Given the description of an element on the screen output the (x, y) to click on. 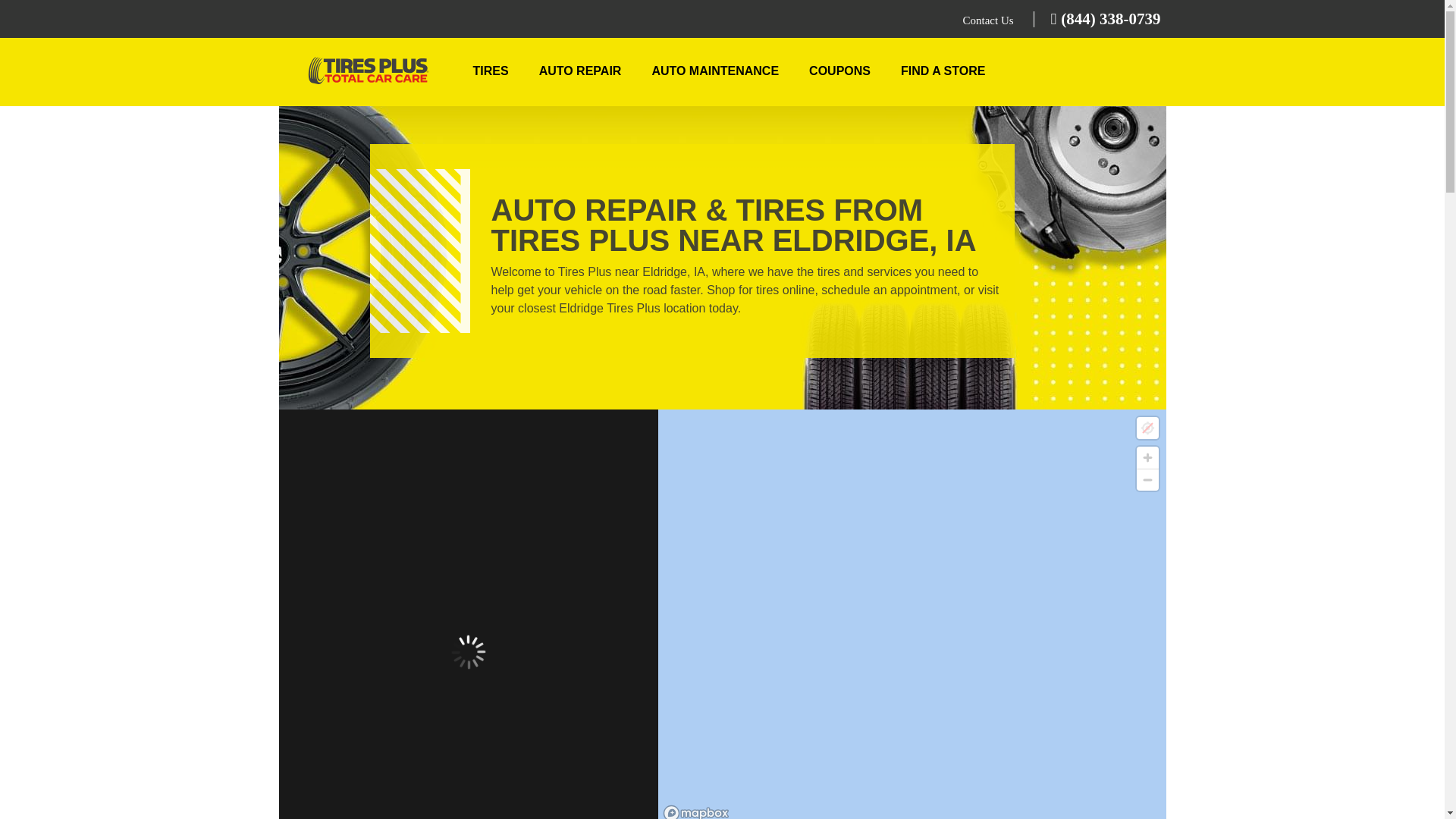
Zoom in (1146, 457)
Tires Plus (368, 73)
AUTO REPAIR (580, 71)
Zoom out (1146, 479)
COUPONS (839, 71)
TIRES (491, 71)
Contact Us (988, 20)
FIND A STORE (942, 71)
AUTO MAINTENANCE (714, 71)
Find my location (1146, 427)
